Given the description of an element on the screen output the (x, y) to click on. 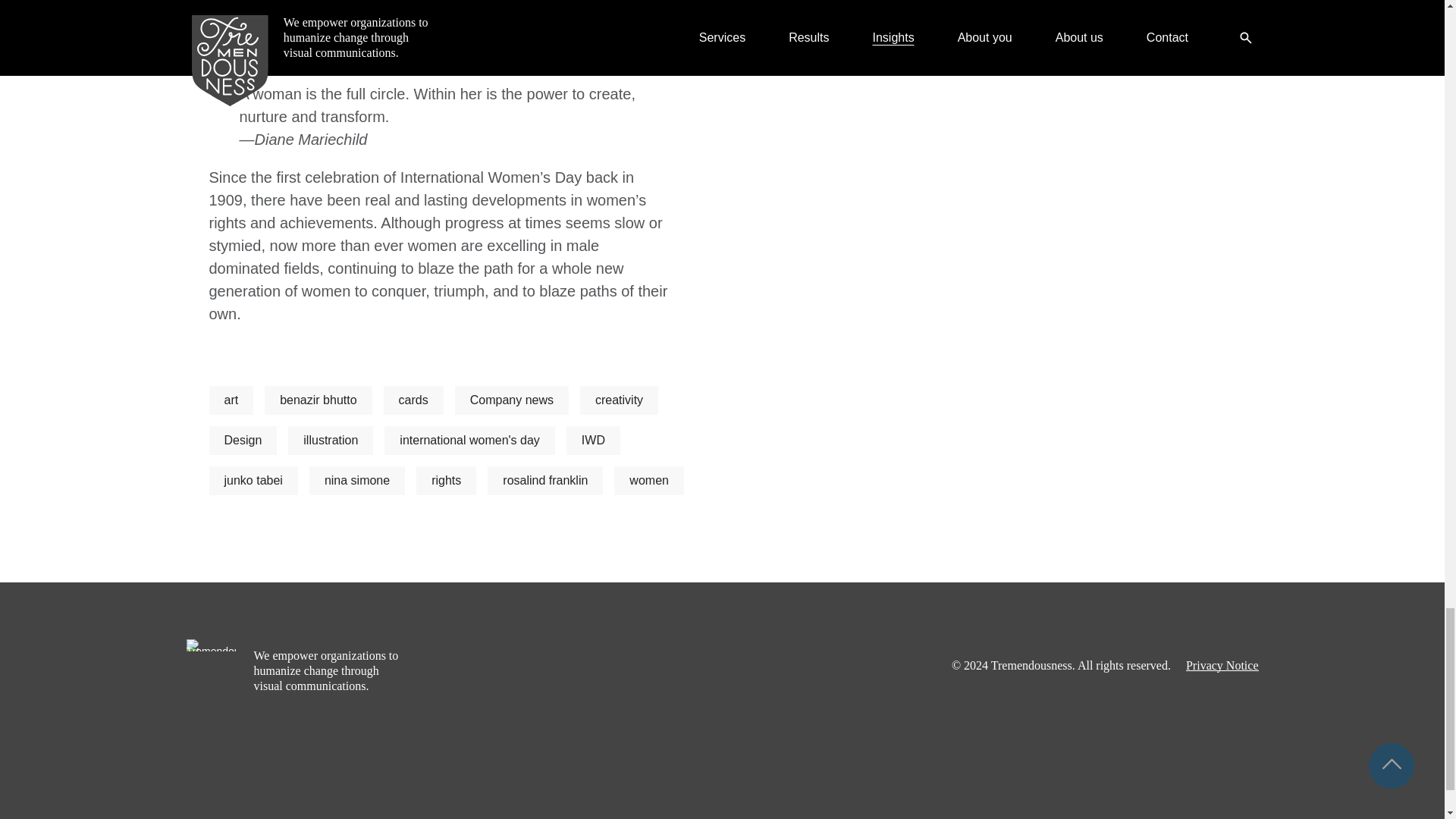
art (231, 399)
Working Mother (350, 33)
cards (414, 399)
benazir bhutto (317, 399)
creativity (618, 399)
Rube Goldberg (336, 10)
Design (243, 440)
international women's day (469, 440)
illustration (330, 440)
Company news (511, 399)
